Given the description of an element on the screen output the (x, y) to click on. 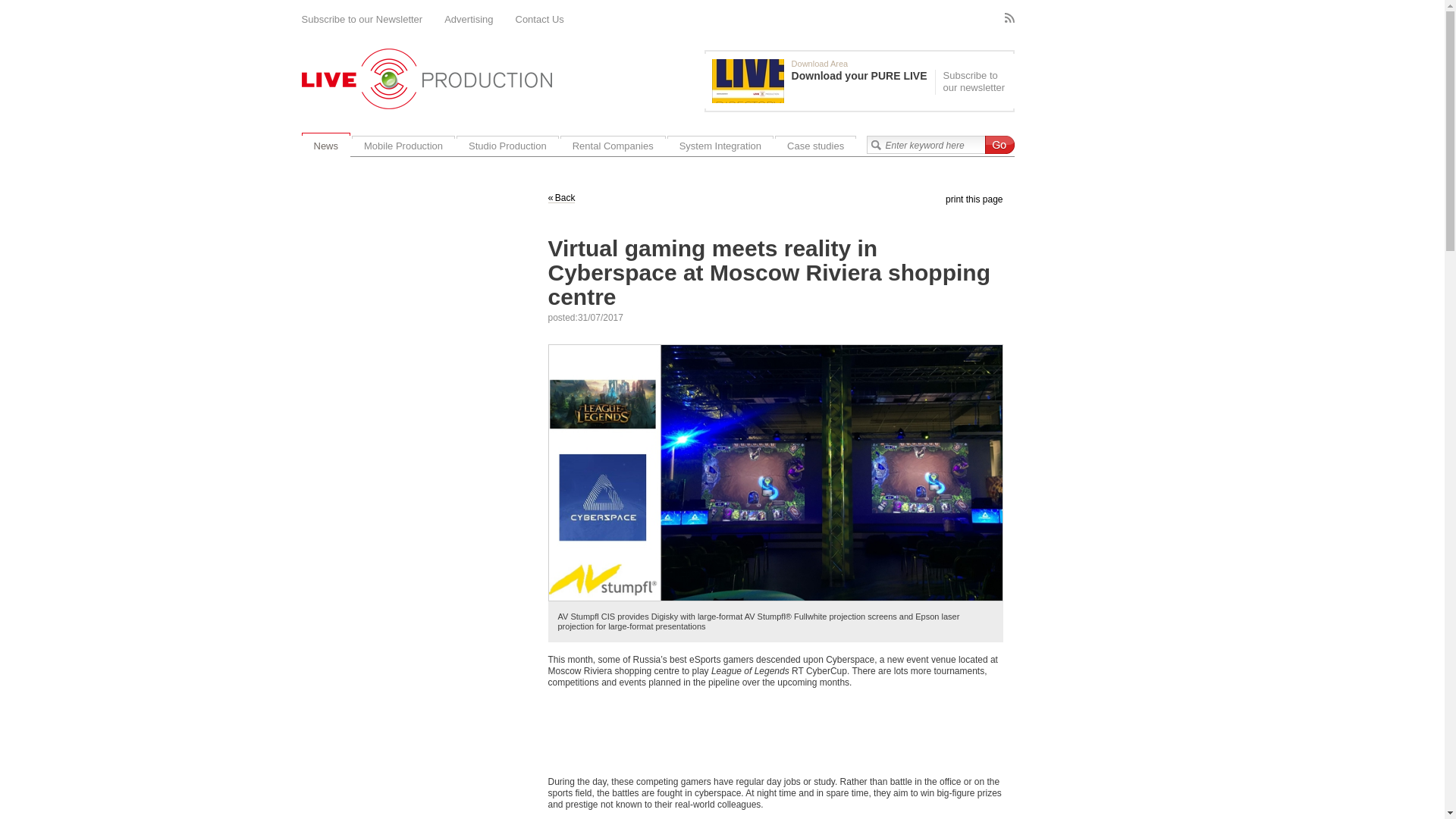
PURE LIVE 2018 (747, 80)
Publication (822, 80)
Contact Us (539, 19)
Subscribe to our newsletter (972, 82)
Subscribe to our Newsletter (362, 19)
Advertising (468, 19)
Go (998, 144)
RSS (1008, 17)
